Given the description of an element on the screen output the (x, y) to click on. 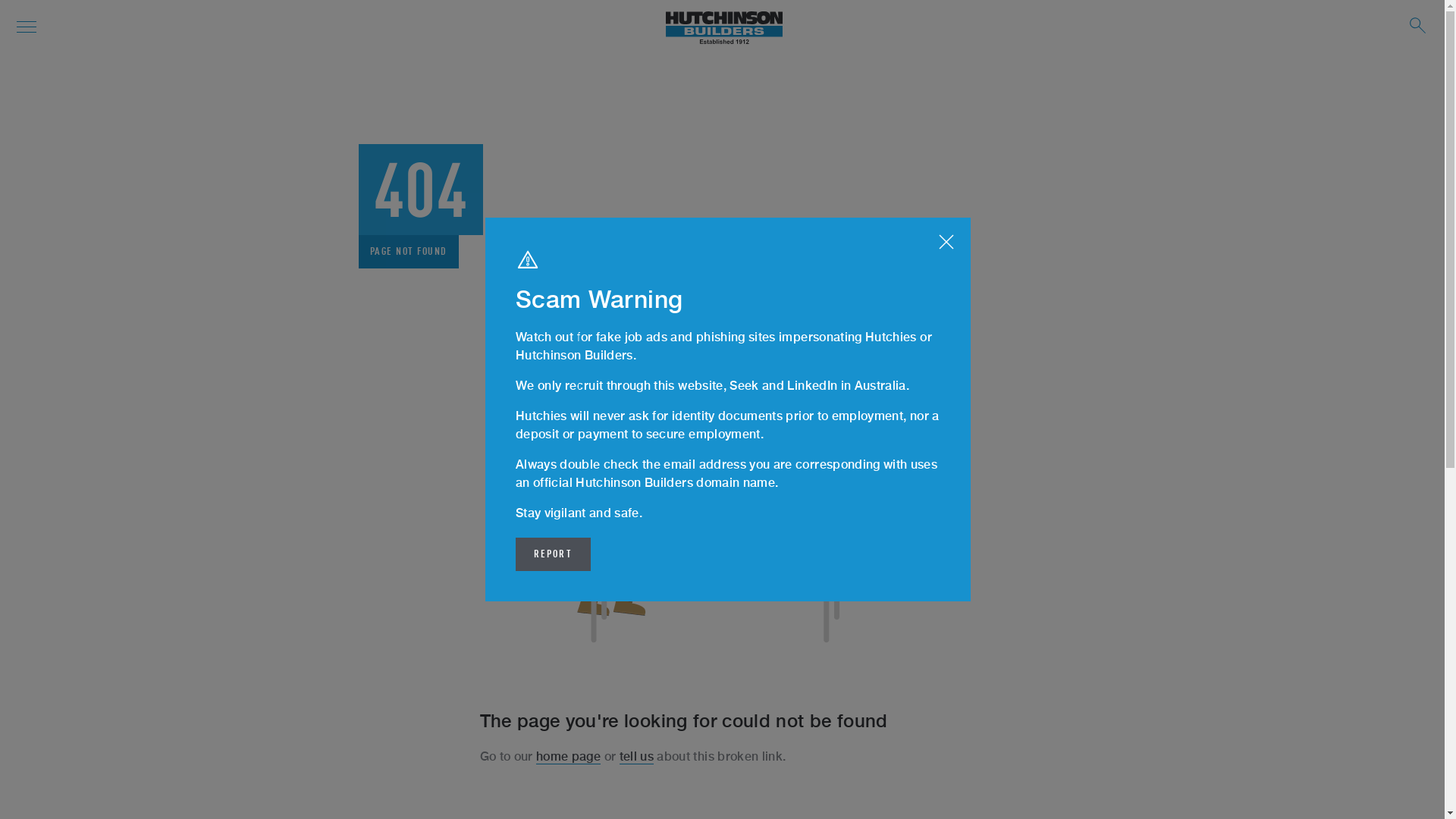
Hutchinson Builders Element type: text (723, 29)
REPORT Element type: text (552, 554)
home page Element type: text (568, 756)
tell us Element type: text (636, 756)
